Given the description of an element on the screen output the (x, y) to click on. 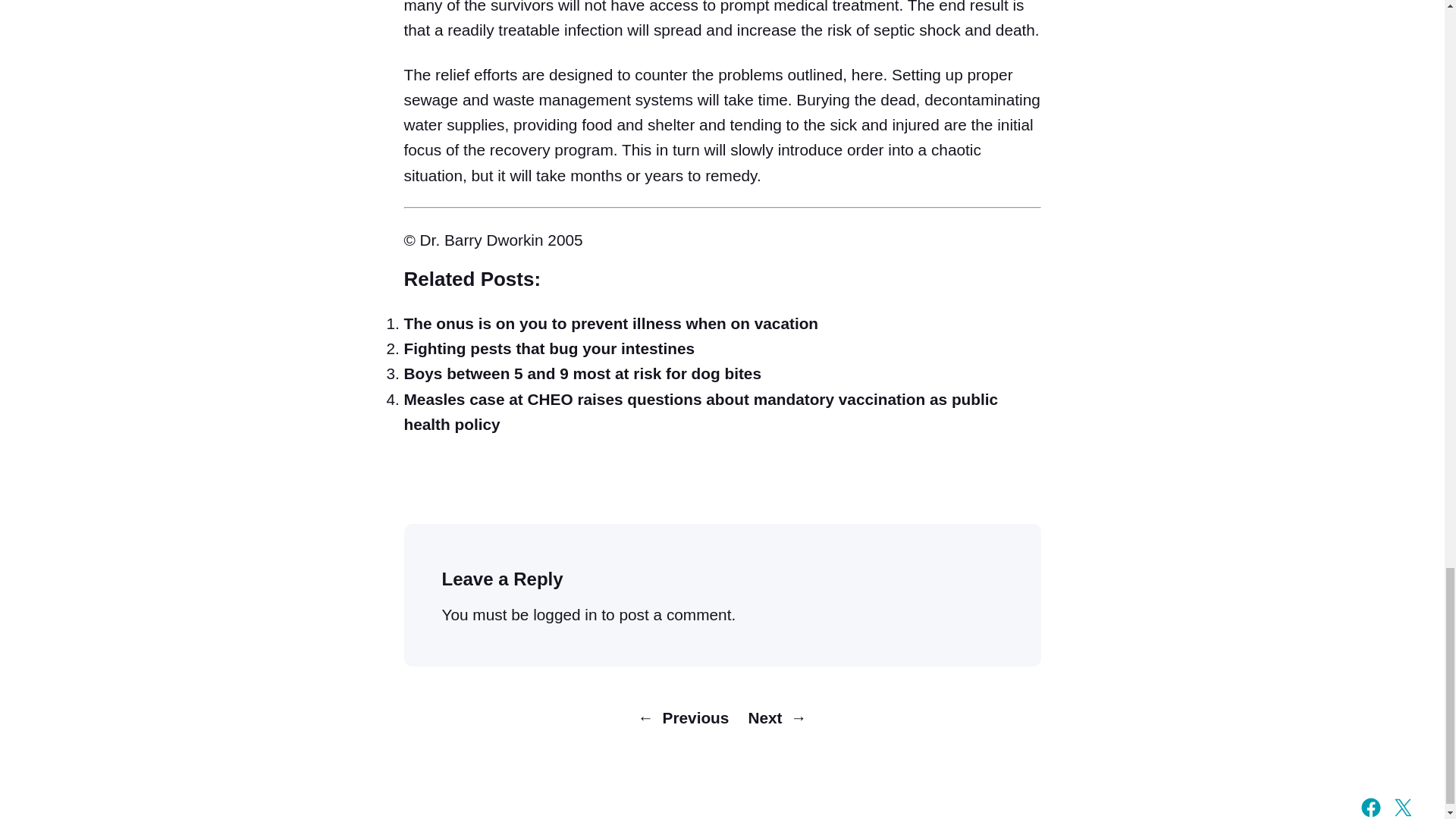
The onus is on you to prevent illness when on vacation (610, 323)
logged in (564, 614)
Next (764, 717)
The onus is on you to prevent illness when on vacation (610, 323)
Boys between 5 and 9 most at risk for dog bites (582, 373)
Boys between 5 and 9 most at risk for dog bites (582, 373)
Fighting pests that bug your intestines (548, 348)
Previous (695, 717)
